Given the description of an element on the screen output the (x, y) to click on. 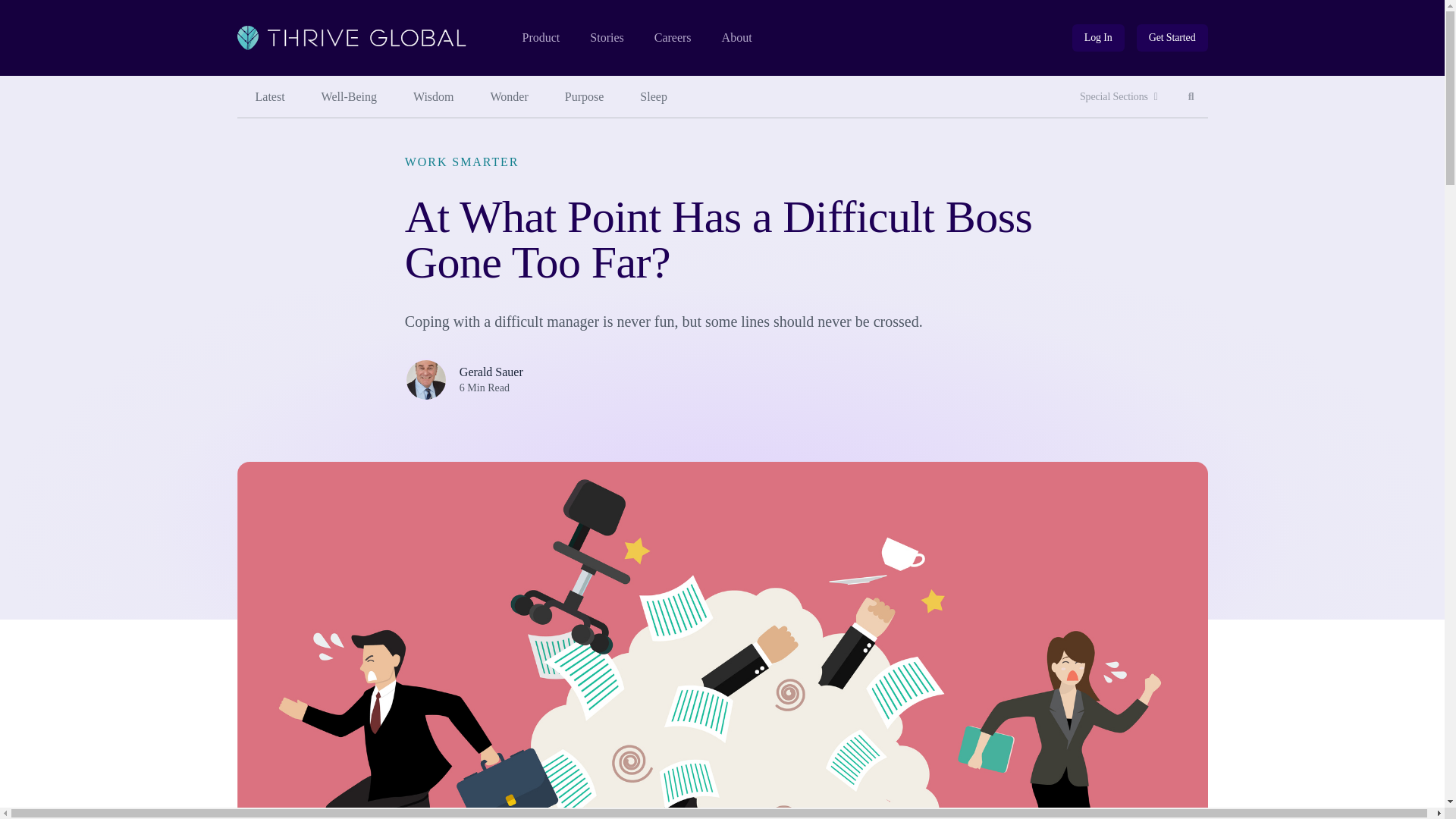
Log In (1097, 37)
Stories (606, 37)
Get Started (1172, 37)
Sleep (653, 96)
Special Sections (1118, 97)
btn-info (1191, 97)
btn-primary (1097, 37)
Product (1172, 37)
Well-Being (540, 37)
Careers (348, 96)
About (672, 37)
Wisdom (737, 37)
Wonder (432, 96)
Purpose (509, 96)
